Given the description of an element on the screen output the (x, y) to click on. 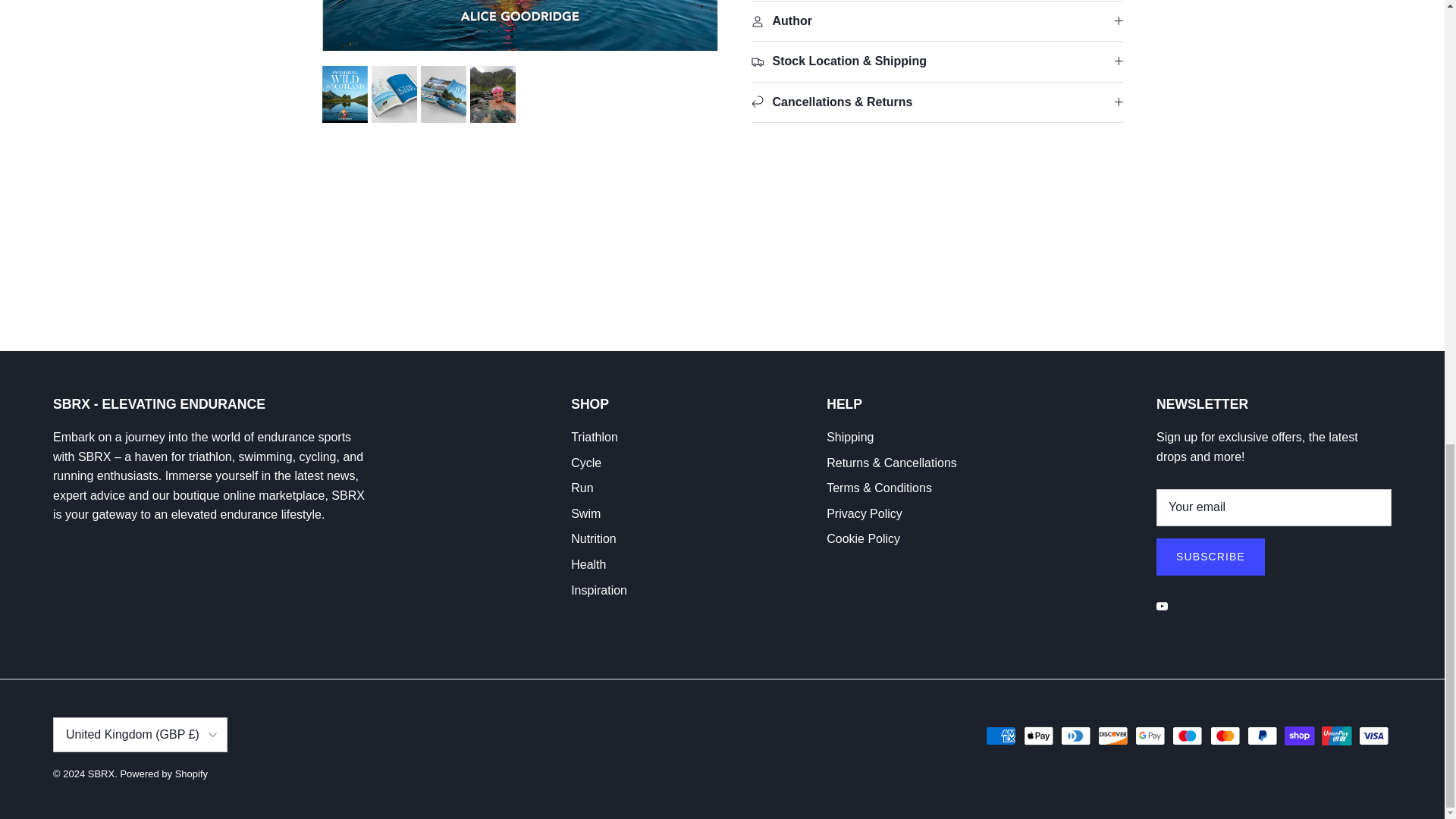
Google Pay (1149, 735)
Diners Club (1075, 735)
American Express (1000, 735)
Discover (1112, 735)
Mastercard (1224, 735)
Apple Pay (1038, 735)
Maestro (1187, 735)
SBRX on YouTube (1161, 605)
